Given the description of an element on the screen output the (x, y) to click on. 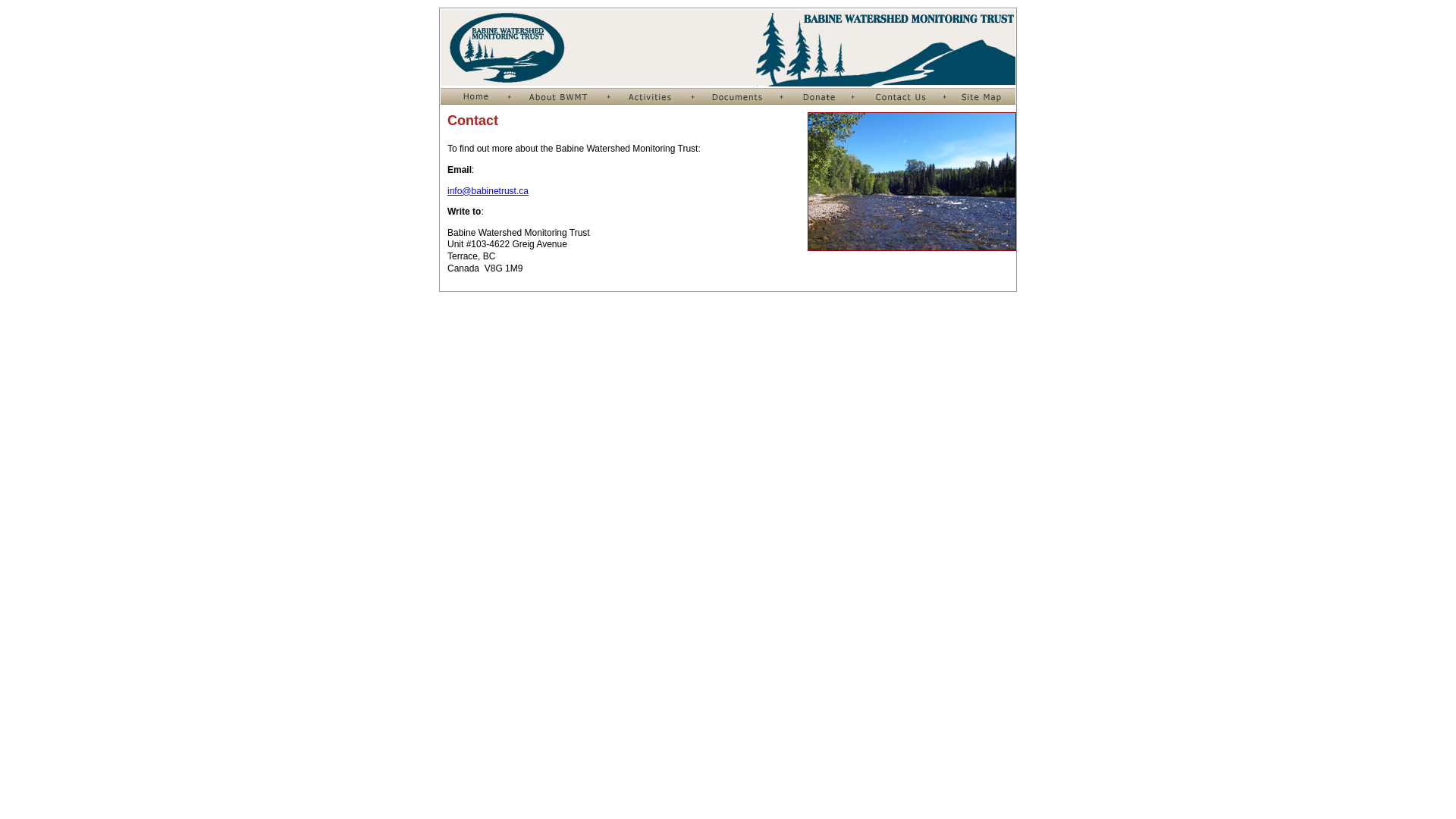
Babine Watershed Monitoring Trust Element type: text (727, 48)
info@babinetrust.ca Element type: text (487, 190)
